Given the description of an element on the screen output the (x, y) to click on. 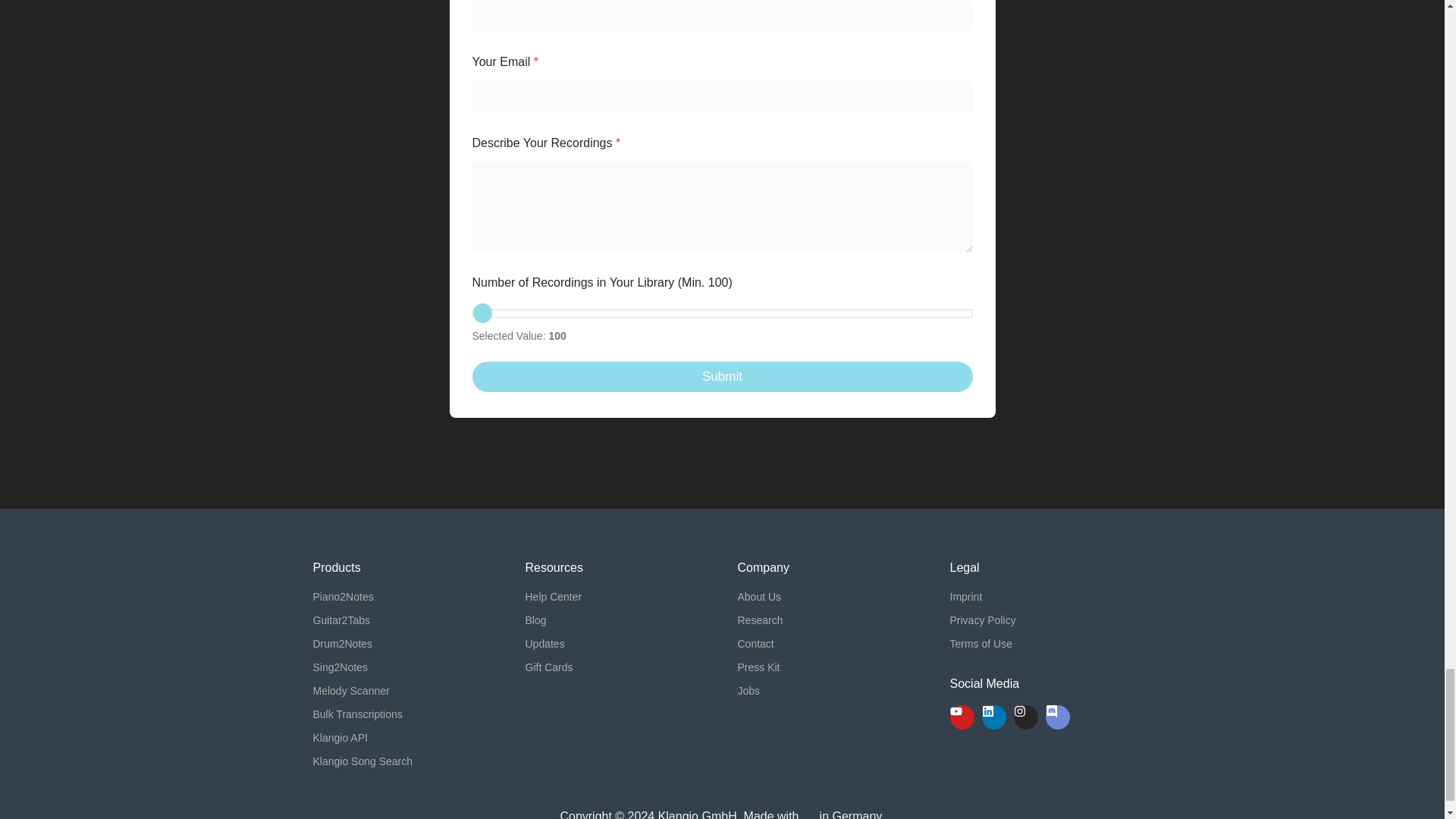
100 (721, 313)
